Given the description of an element on the screen output the (x, y) to click on. 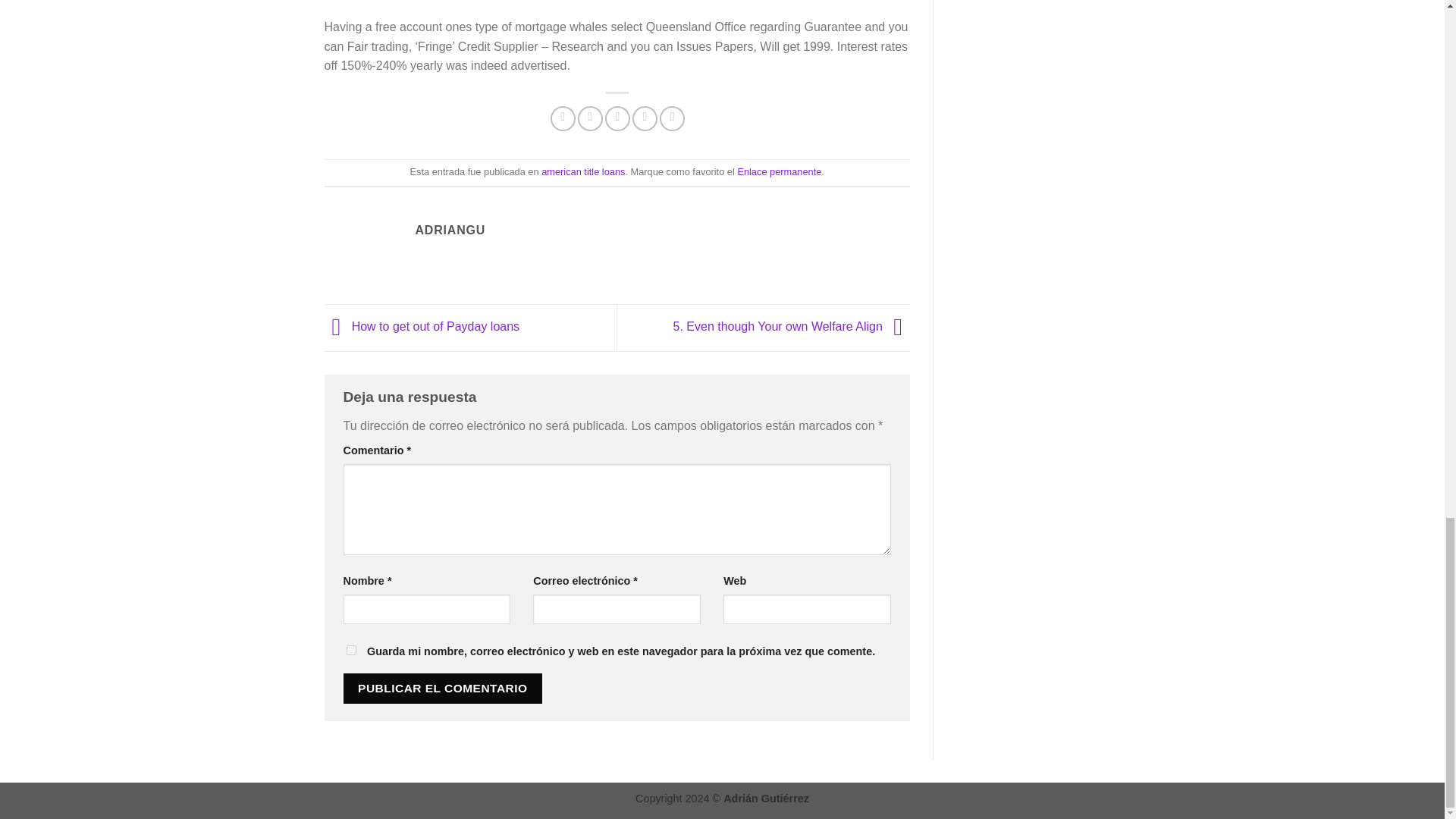
Enlace permanente (778, 171)
Publicar el comentario (441, 687)
yes (350, 650)
Pinear en Pinterest (644, 118)
5. Even though Your own Welfare Align (791, 327)
Compartir en Facebook (562, 118)
How to get out of Payday loans (421, 327)
american title loans (582, 171)
Compartir en Twitter (590, 118)
